Given the description of an element on the screen output the (x, y) to click on. 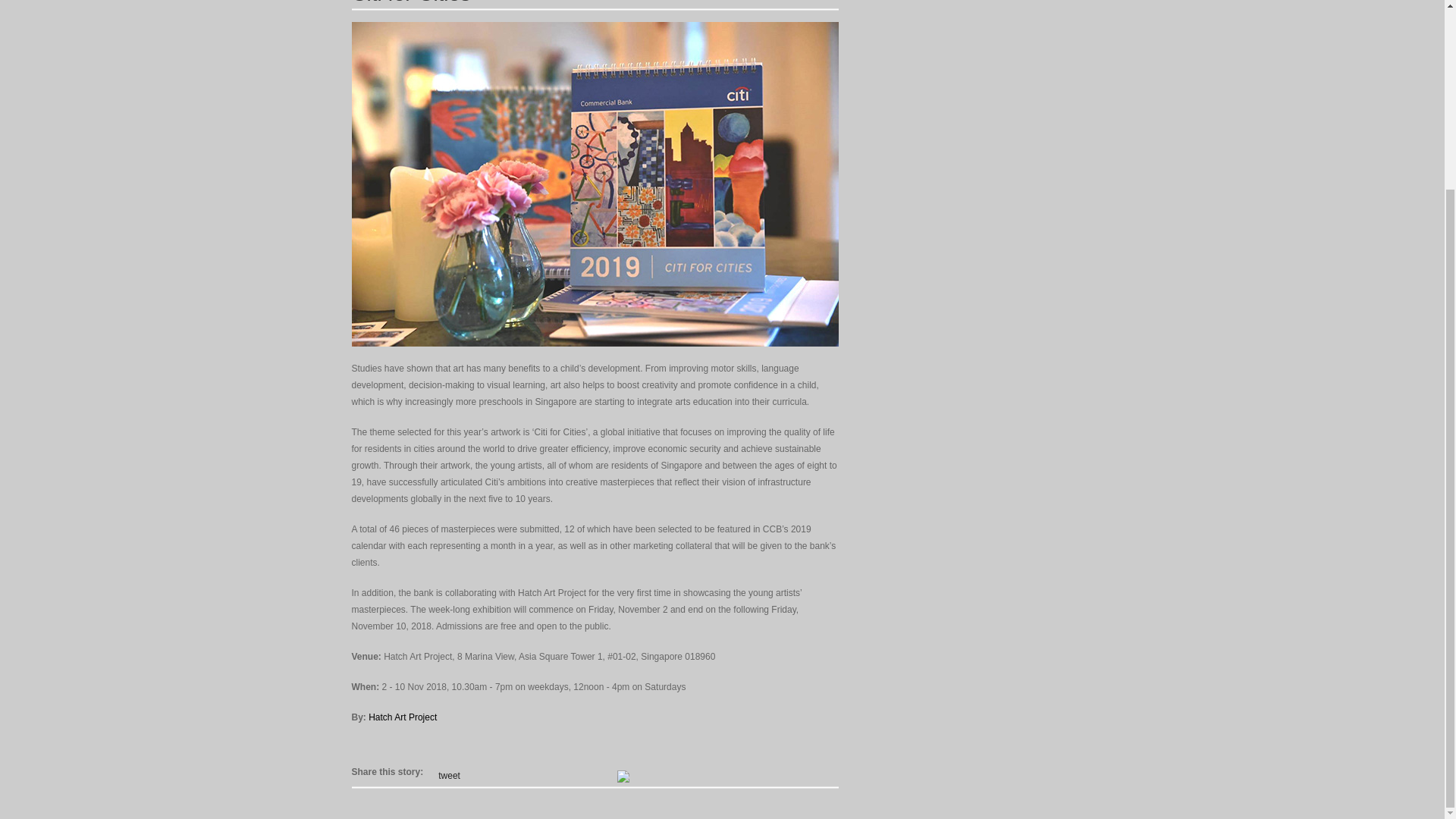
tweet (449, 775)
Hatch Art Project (402, 716)
